Given the description of an element on the screen output the (x, y) to click on. 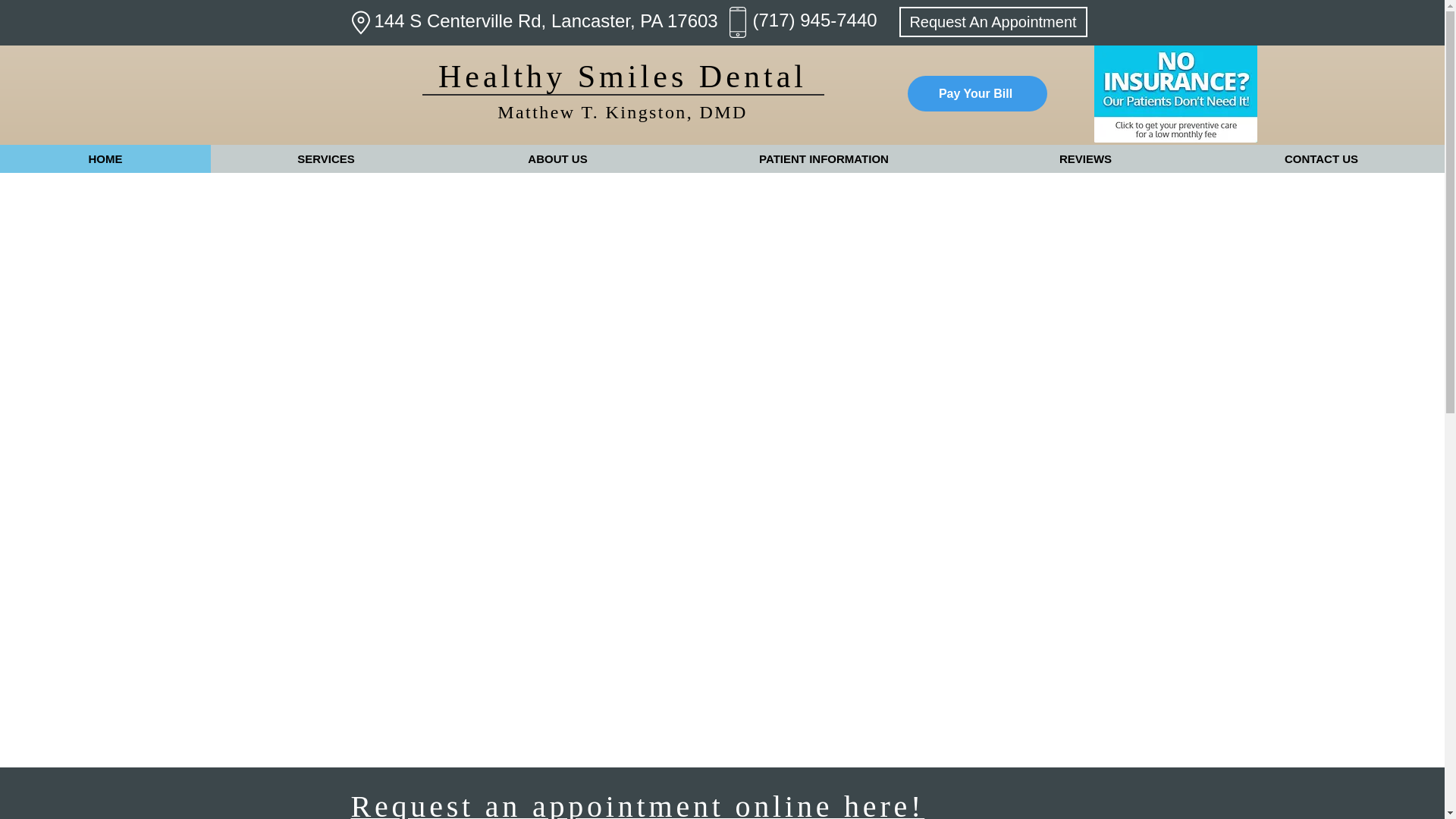
HOME (105, 158)
Pay Your Bill (976, 93)
Request An Appointment (993, 21)
144 S Centerville Rd, Lancaster, PA 17603 (545, 20)
SERVICES (326, 158)
REVIEWS (1084, 158)
Request an appointment online here! (637, 804)
